Given the description of an element on the screen output the (x, y) to click on. 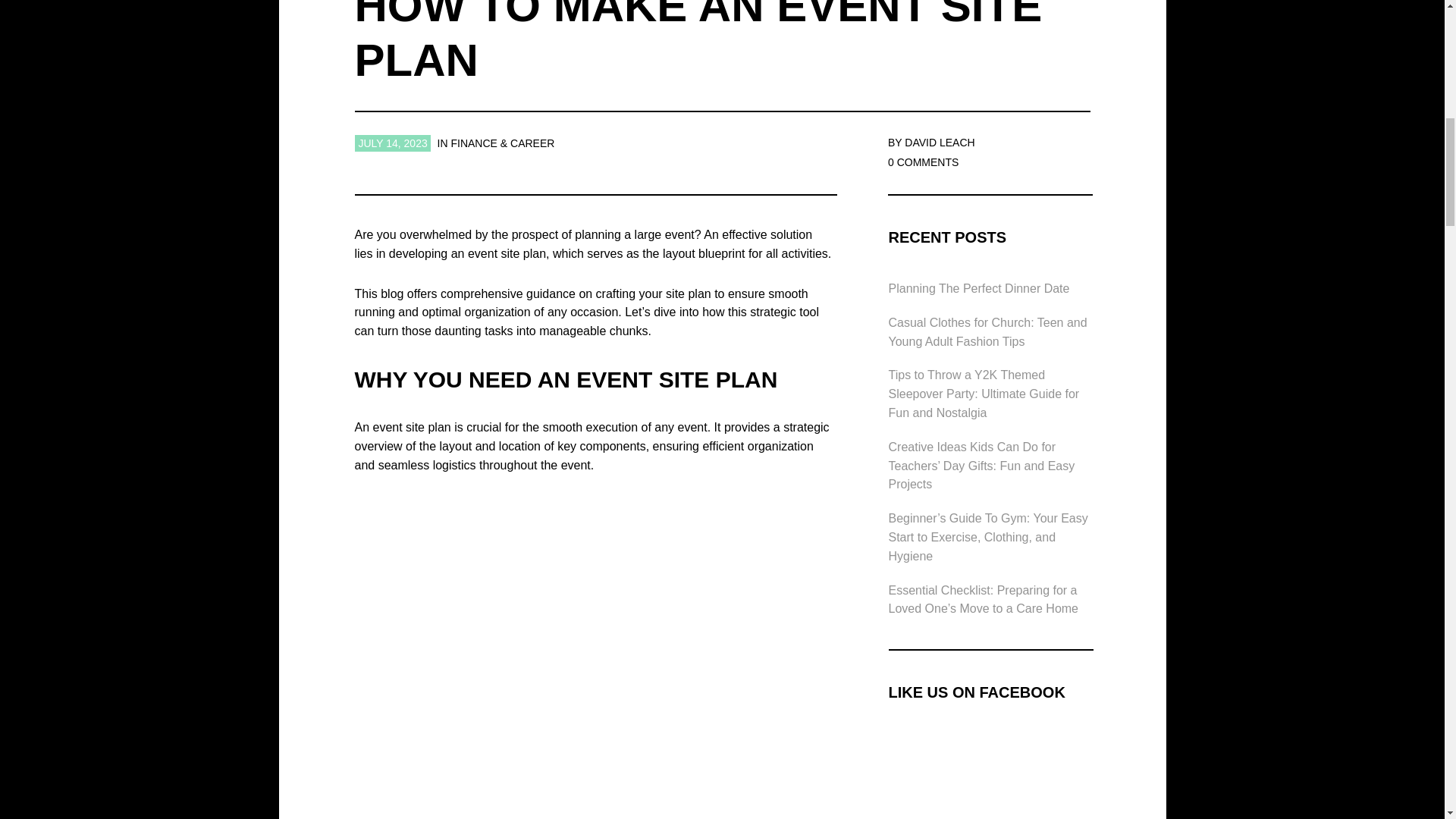
DAVID LEACH (939, 142)
Planning The Perfect Dinner Date (979, 287)
Casual Clothes for Church: Teen and Young Adult Fashion Tips (987, 332)
